Given the description of an element on the screen output the (x, y) to click on. 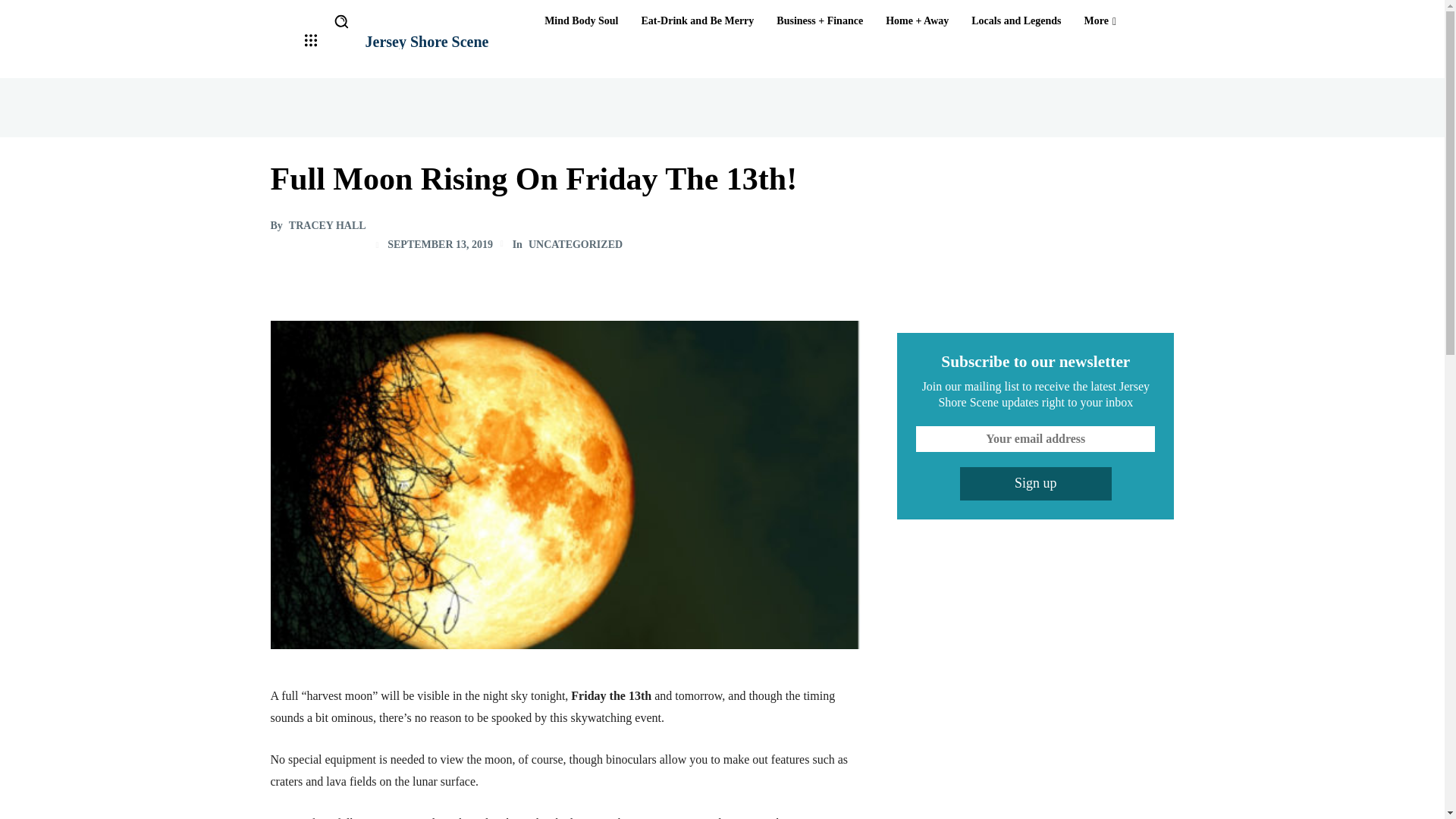
Eat-Drink and Be Merry (697, 20)
Sign up (1035, 483)
Jersey Shore Scene (427, 41)
More (1100, 20)
Mind Body Soul (581, 20)
Locals and Legends (1015, 20)
